Given the description of an element on the screen output the (x, y) to click on. 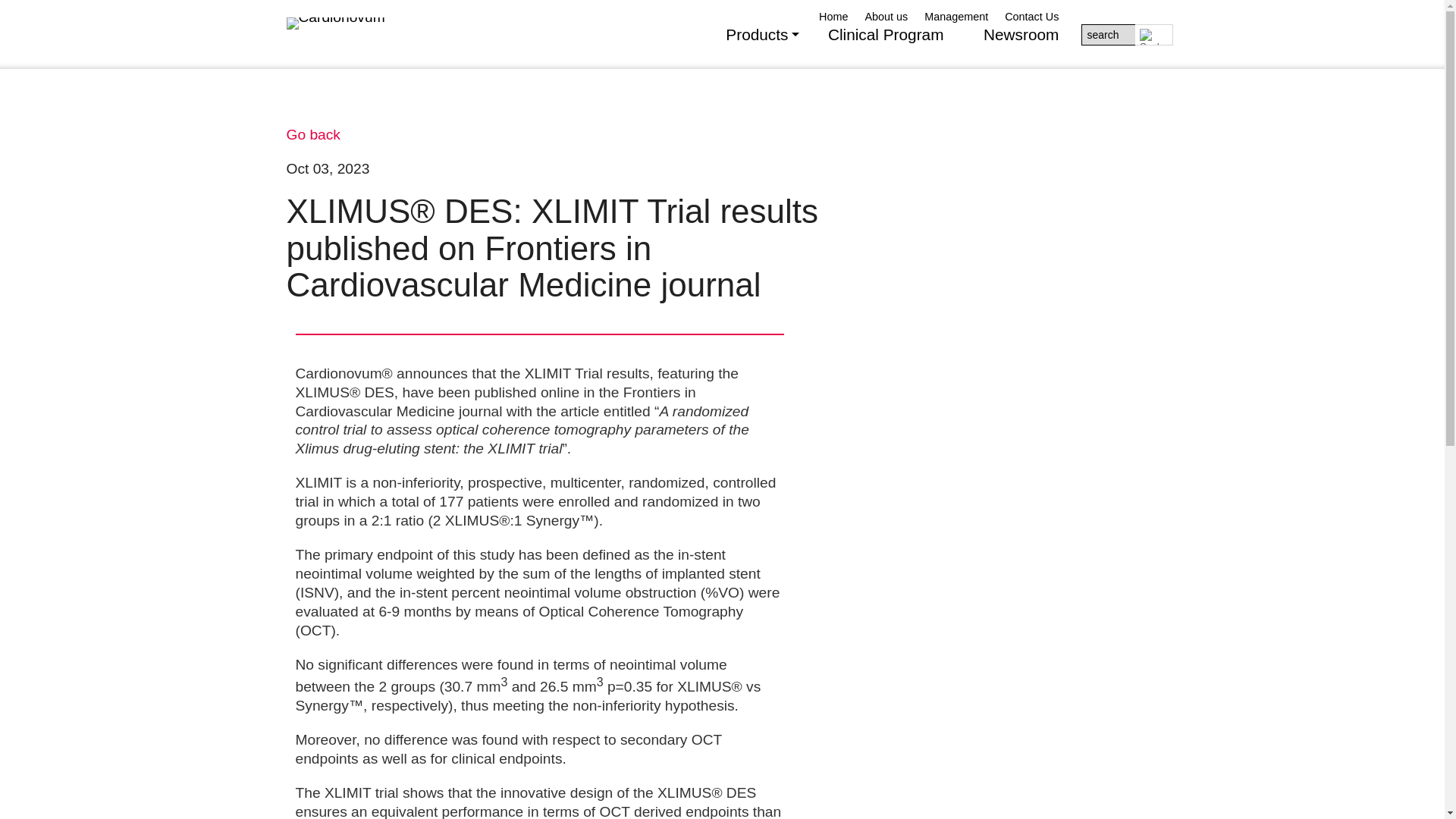
Products (756, 46)
Go back (313, 134)
About us (885, 16)
Management (956, 16)
Newsroom (1021, 46)
Go back (313, 134)
Clinical Program (885, 46)
